Given the description of an element on the screen output the (x, y) to click on. 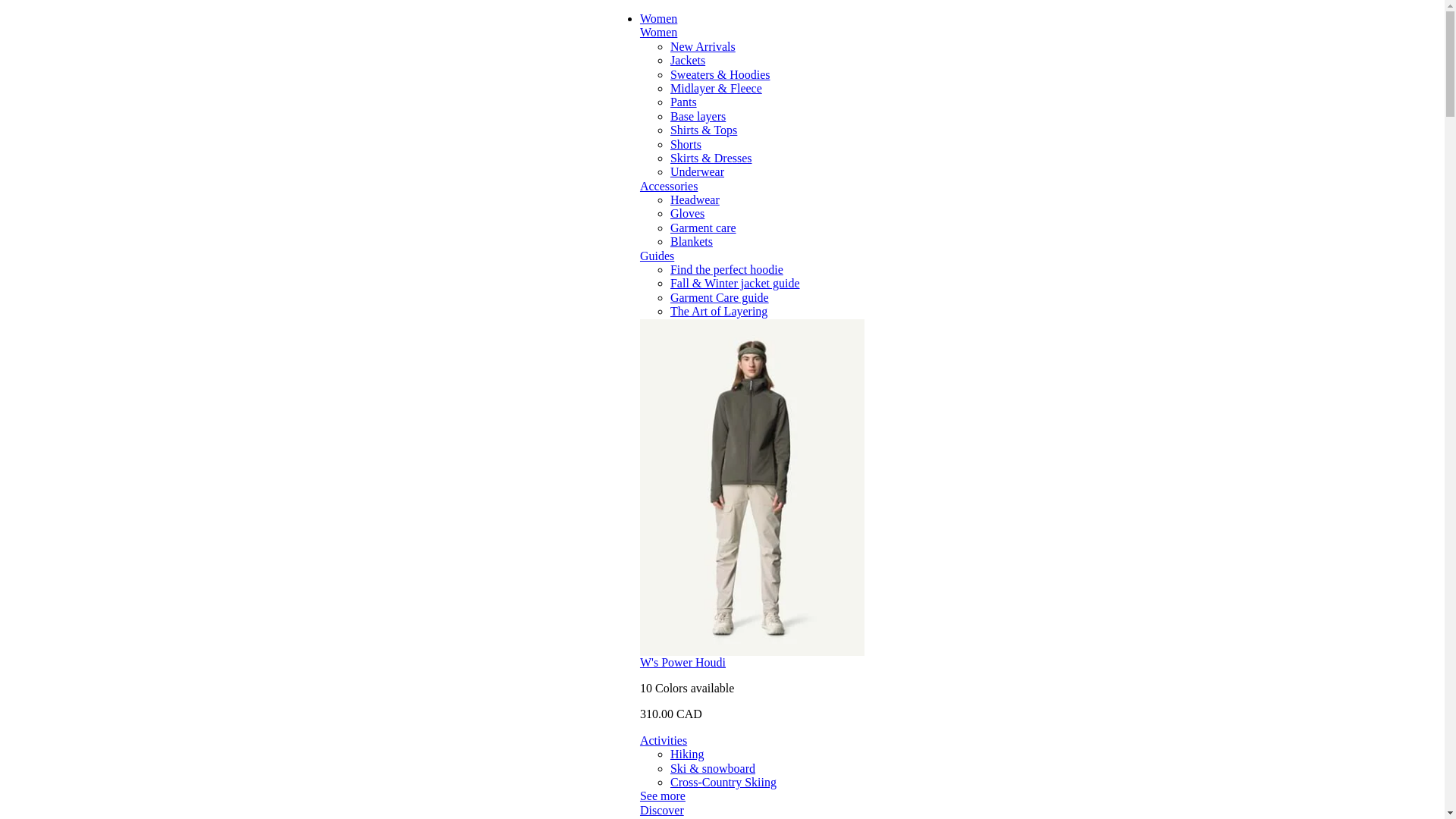
Jackets (686, 60)
The Art of Layering (718, 310)
Garment Care guide (718, 297)
Accessories (668, 185)
Women (658, 31)
Cross-Country Skiing (722, 781)
W's Power Houdi (682, 662)
Find the perfect hoodie (726, 269)
Women (658, 18)
See more (662, 795)
